Given the description of an element on the screen output the (x, y) to click on. 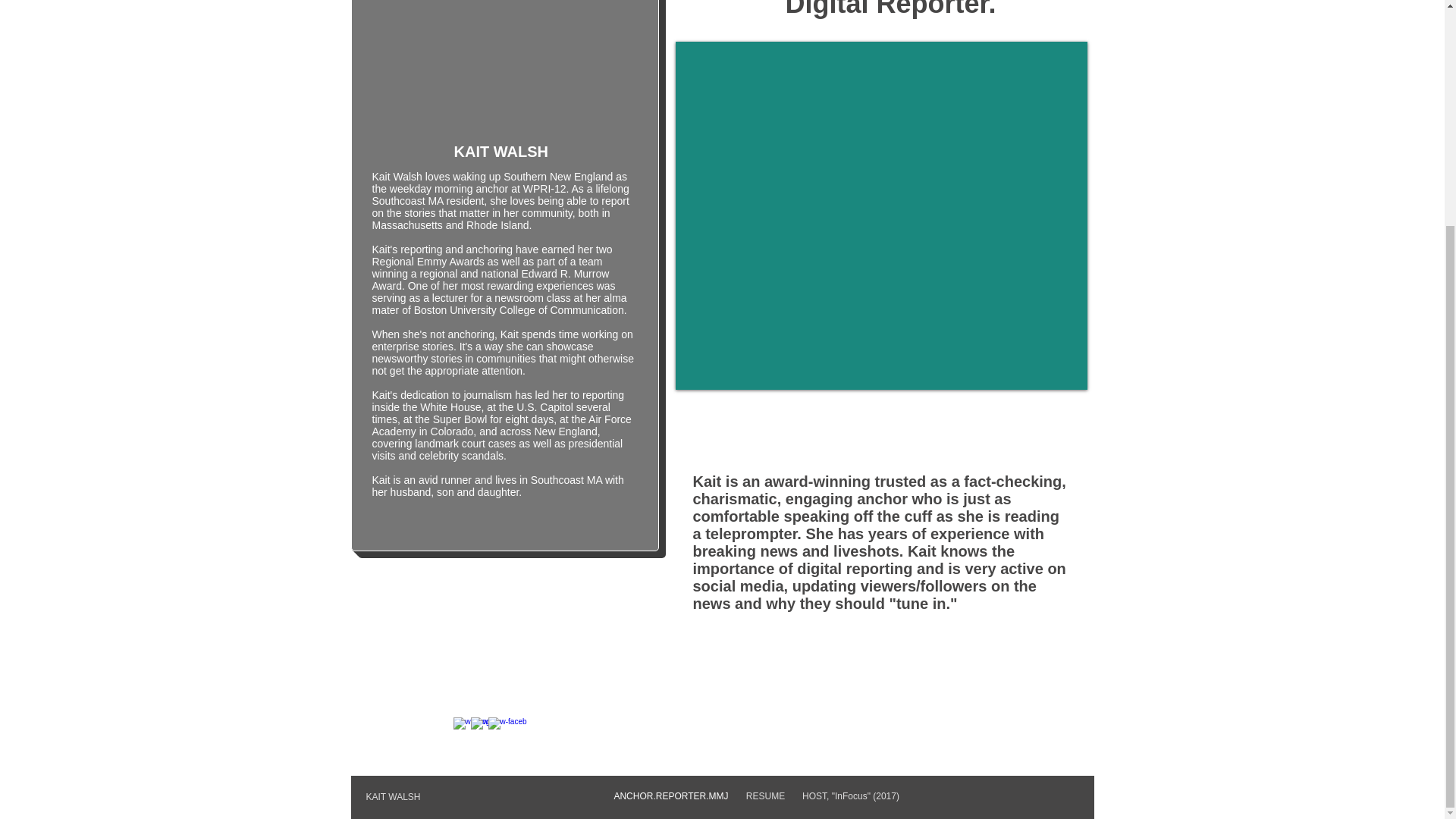
RESUME (764, 796)
ANCHOR.REPORTER.MMJ (671, 796)
